Given the description of an element on the screen output the (x, y) to click on. 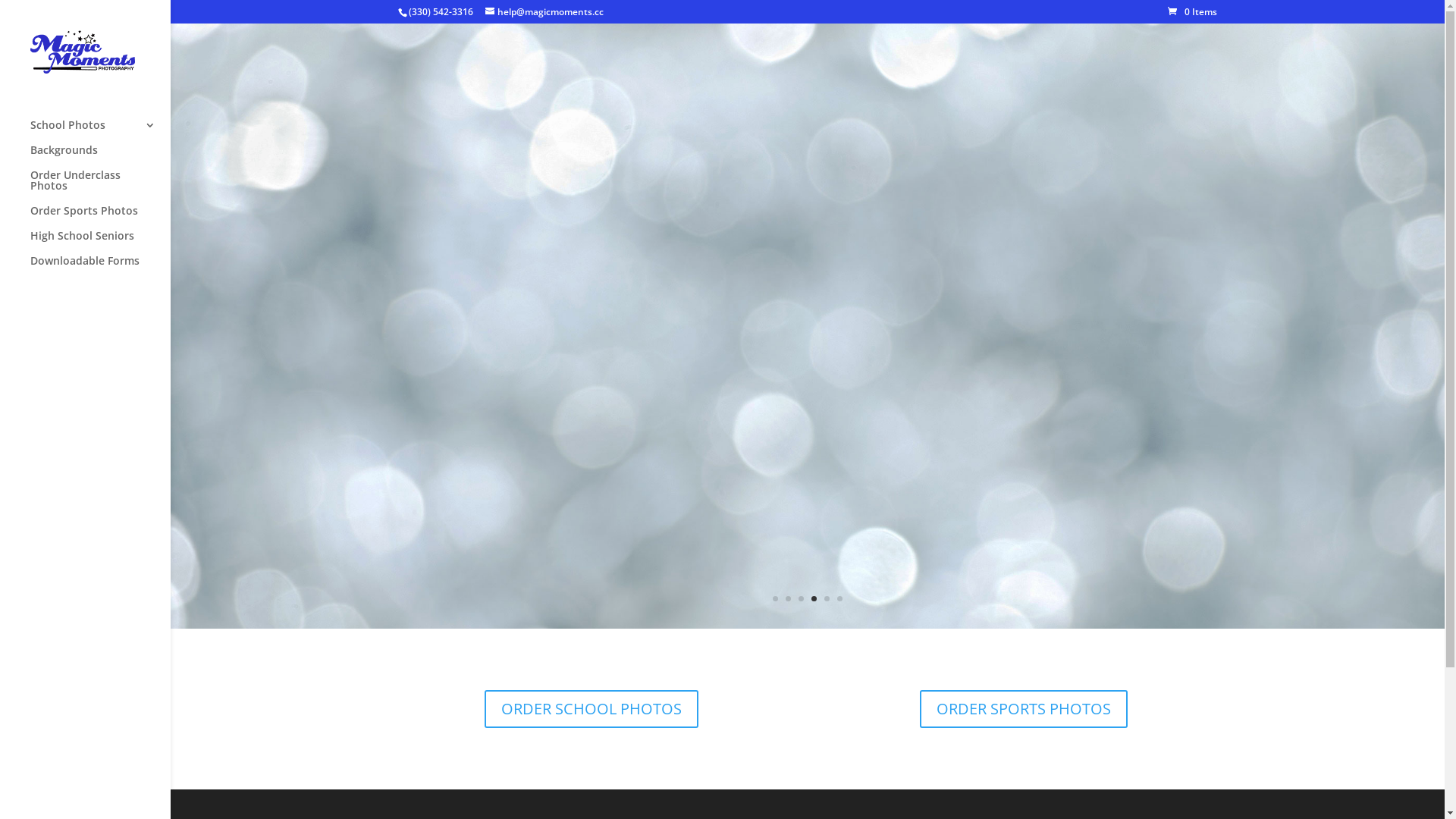
help@magicmoments.cc Element type: text (544, 11)
5 Element type: text (826, 598)
High School Seniors Element type: text (100, 242)
Downloadable Forms Element type: text (100, 267)
ORDER SCHOOL PHOTOS Element type: text (591, 709)
0 Items Element type: text (1192, 11)
4 Element type: text (813, 598)
6 Element type: text (839, 598)
2 Element type: text (787, 598)
Backgrounds Element type: text (100, 156)
Order Sports Photos Element type: text (100, 217)
(330) 542-3316 Element type: text (440, 11)
Order Underclass Photos Element type: text (100, 187)
1 Element type: text (775, 598)
3 Element type: text (800, 598)
football Element type: hover (807, 624)
ORDER SPORTS PHOTOS Element type: text (1023, 709)
School Photos Element type: text (100, 131)
